Given the description of an element on the screen output the (x, y) to click on. 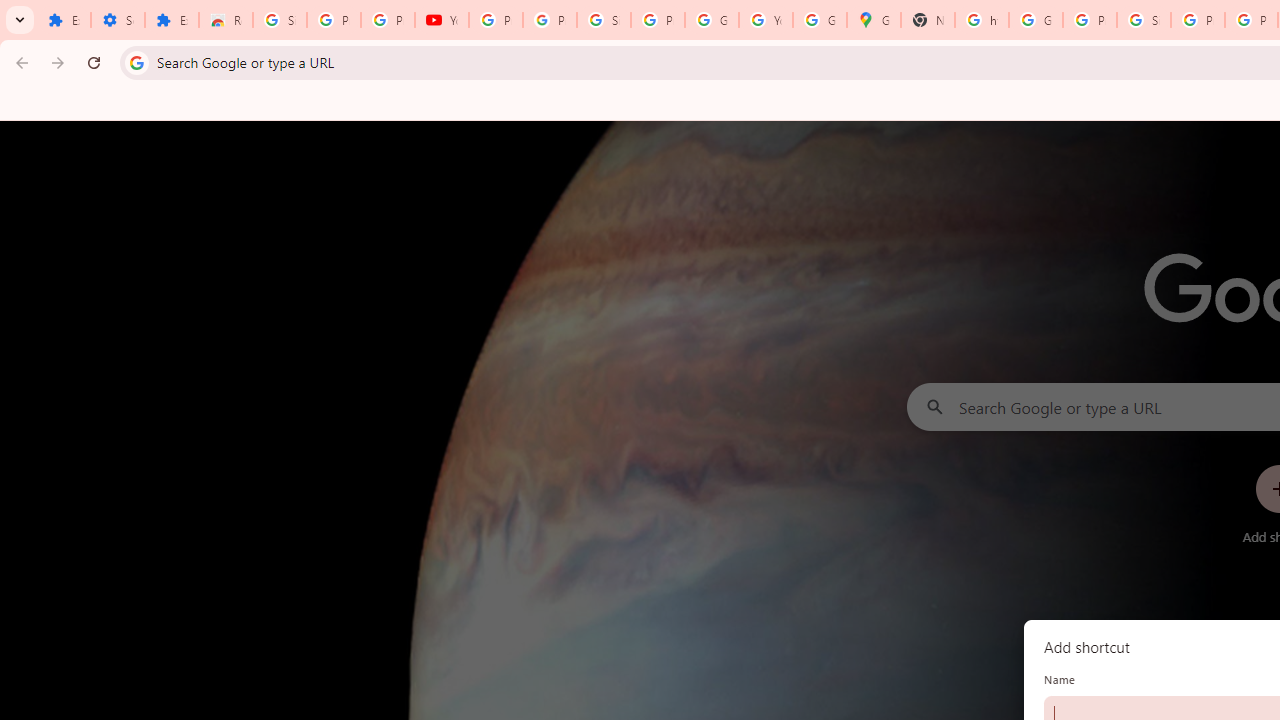
https://scholar.google.com/ (981, 20)
Extensions (63, 20)
Extensions (171, 20)
Google Account (711, 20)
New Tab (927, 20)
Google Maps (874, 20)
